Given the description of an element on the screen output the (x, y) to click on. 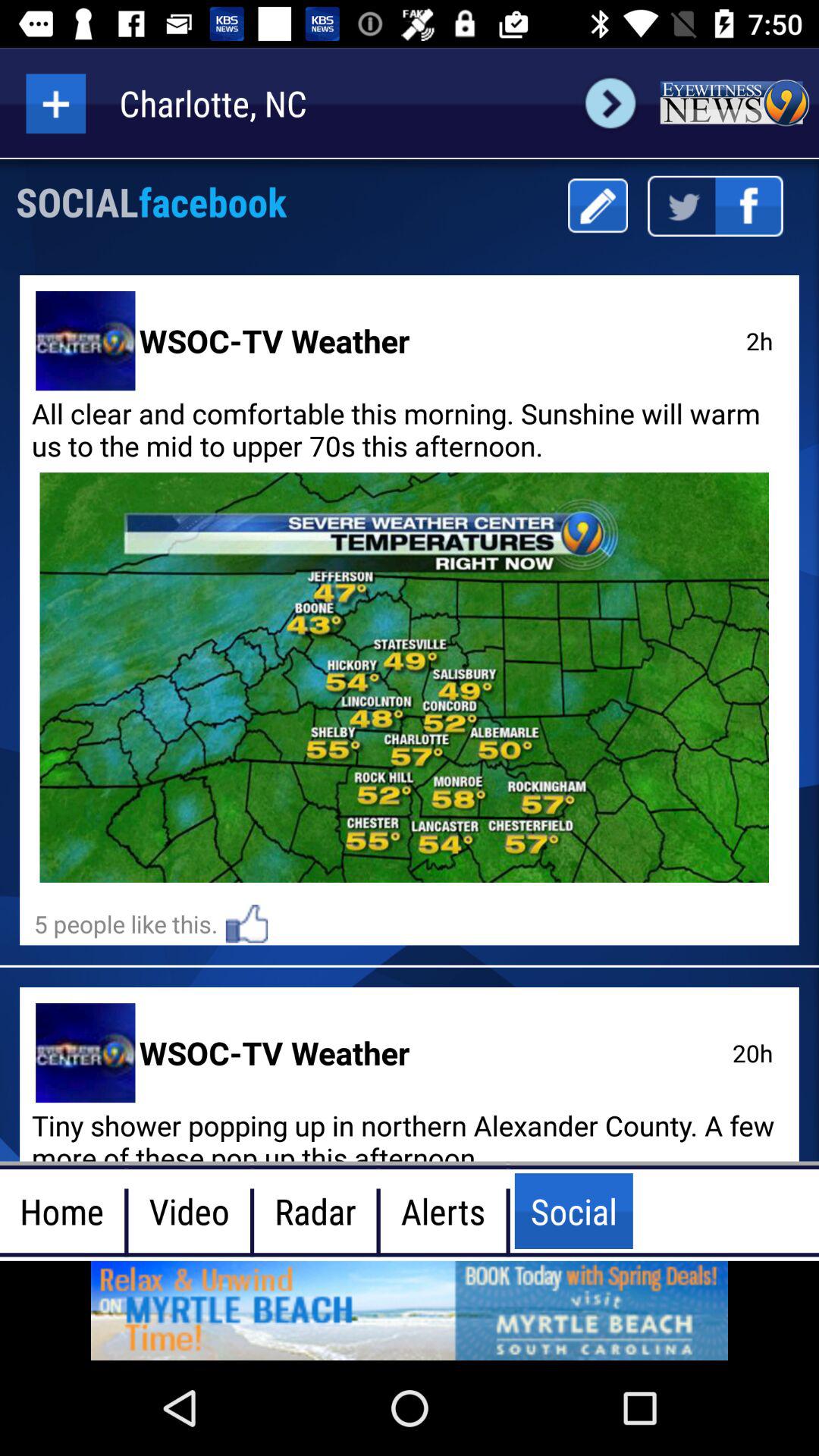
advertisement image (409, 1310)
